Given the description of an element on the screen output the (x, y) to click on. 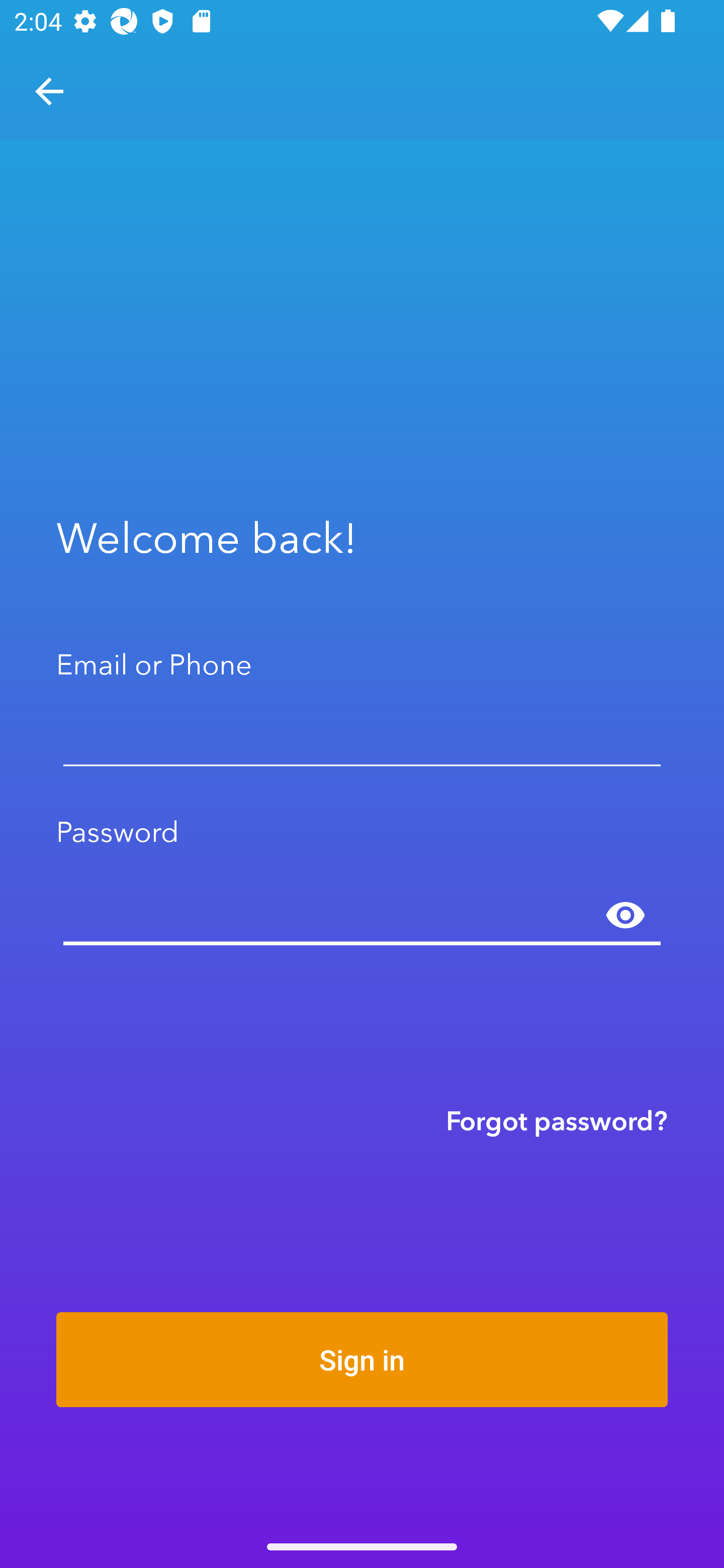
Navigate up (49, 91)
Show password (625, 915)
Forgot password? (556, 1119)
Sign in (361, 1359)
